Given the description of an element on the screen output the (x, y) to click on. 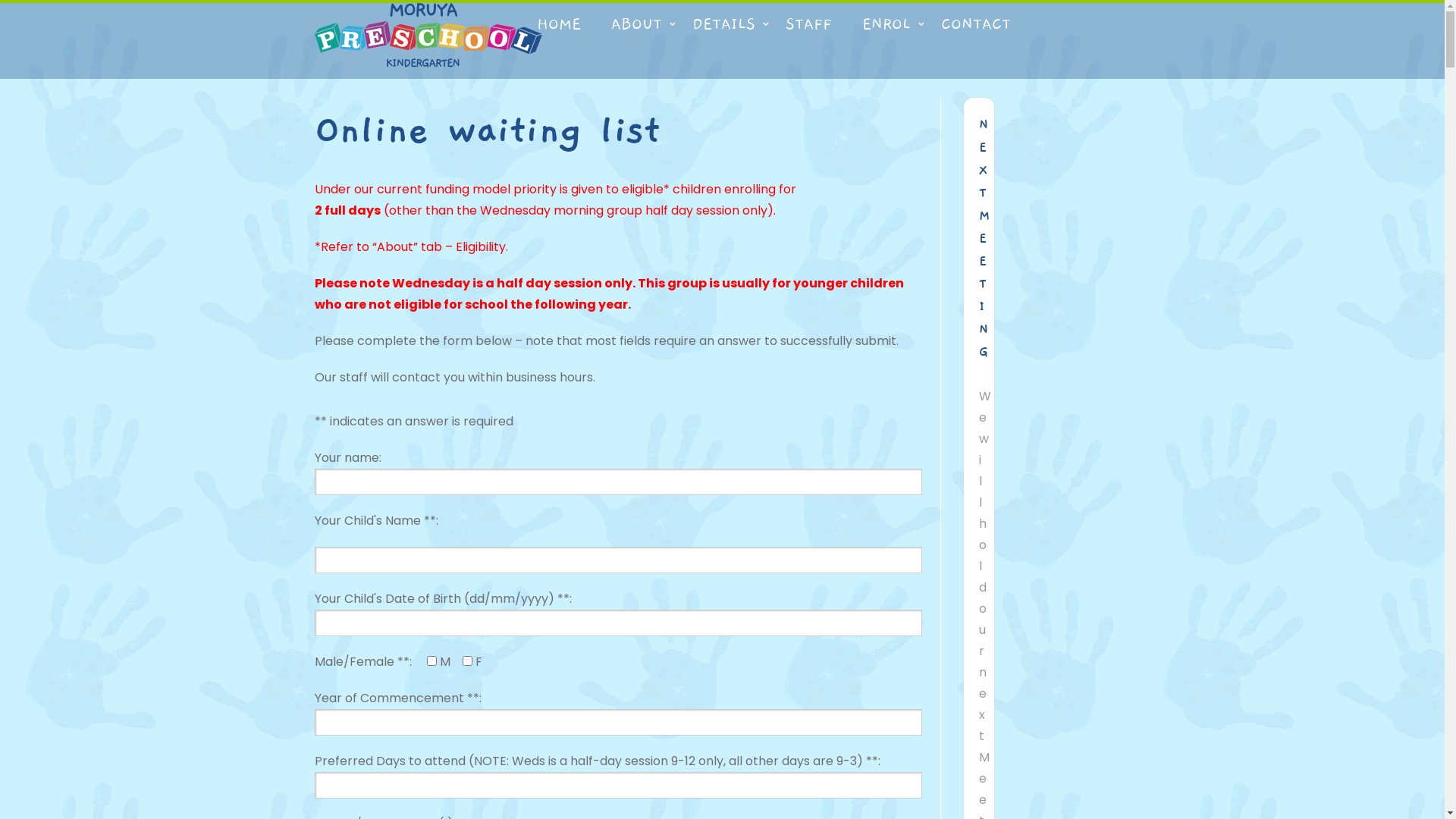
DETAILS Element type: text (722, 24)
ENROL Element type: text (885, 24)
CONTACT Element type: text (974, 24)
STAFF Element type: text (808, 24)
HOME Element type: text (558, 24)
ABOUT Element type: text (636, 24)
